Given the description of an element on the screen output the (x, y) to click on. 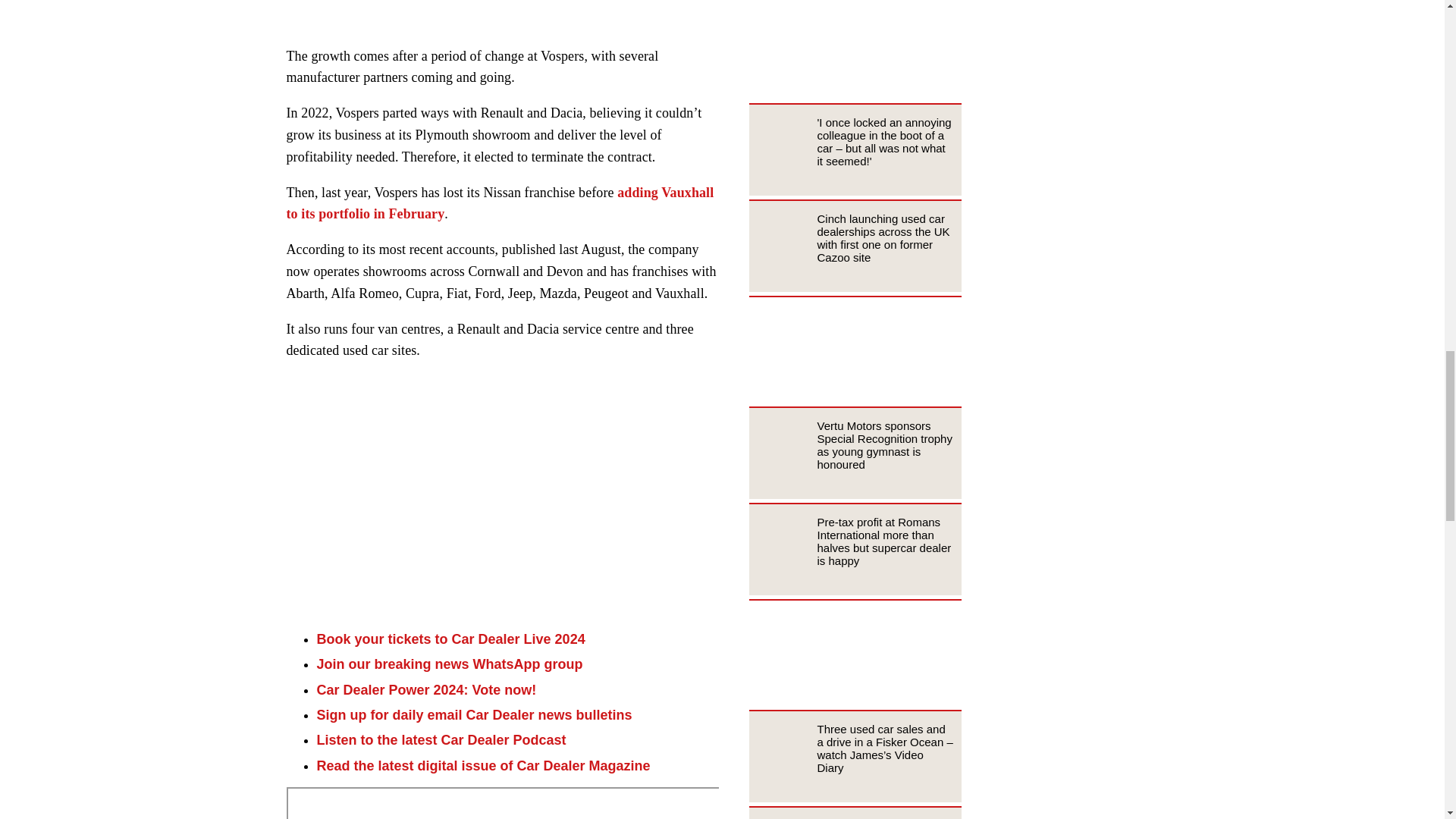
Book your tickets to Car Dealer Live 2024 (451, 639)
Listen to the latest Car Dealer Podcast (441, 739)
Sign up for daily email Car Dealer news bulletins (474, 714)
Join our breaking news WhatsApp group (450, 663)
Read the latest digital issue of Car Dealer Magazine (483, 765)
Why you'll REALLY want to be at Car Dealer Live 2024 (502, 497)
adding Vauxhall to its portfolio in February (500, 203)
Car Dealer Power 2024: Vote now! (427, 689)
